Given the description of an element on the screen output the (x, y) to click on. 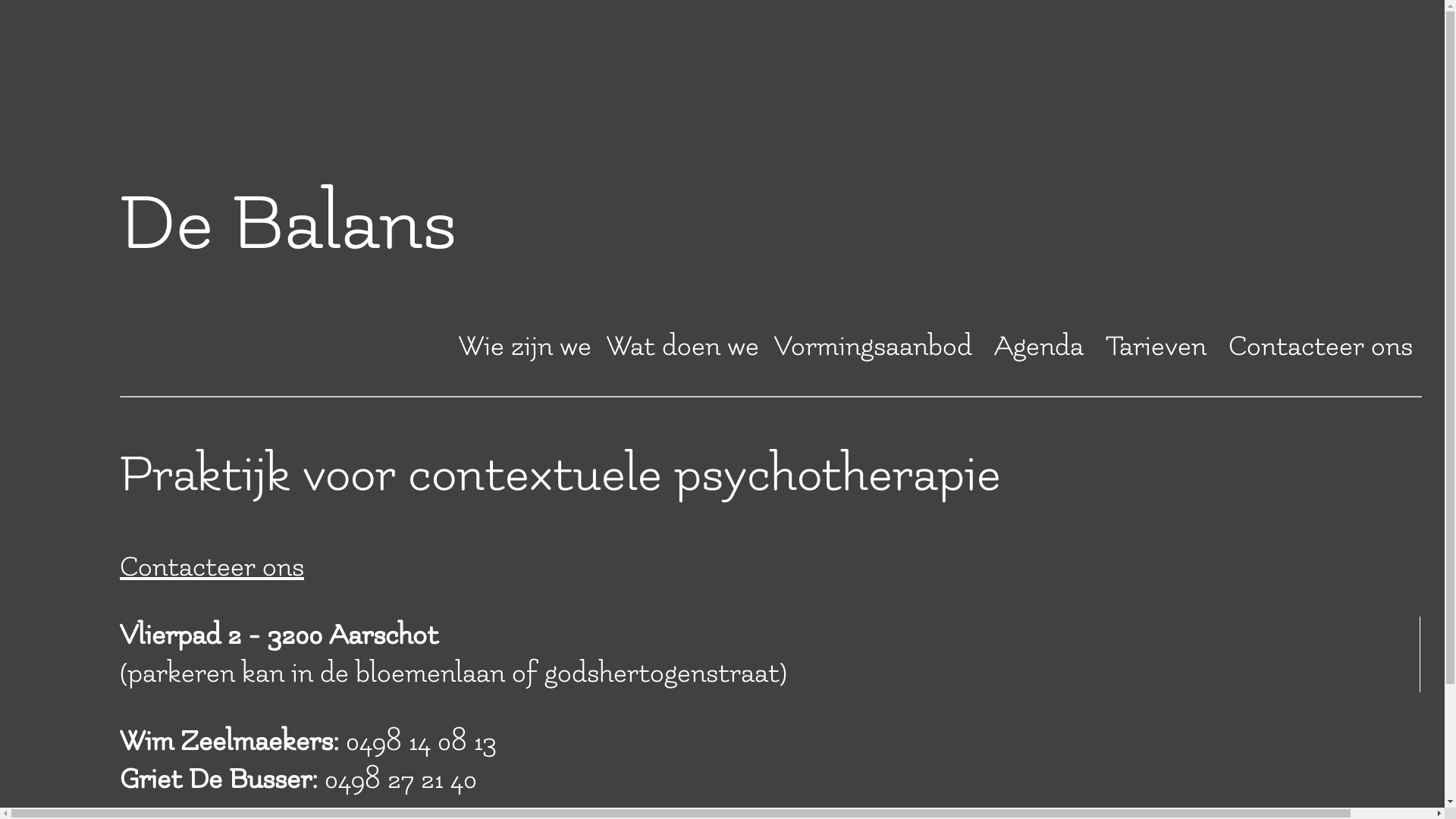
Wat doen we Element type: text (682, 345)
Vormingsaanbod Element type: text (872, 345)
De Balans Element type: text (288, 223)
Tarieven Element type: text (1155, 345)
Contacteer ons Element type: text (1320, 345)
Agenda Element type: text (1037, 345)
Wie zijn we Element type: text (524, 345)
